Given the description of an element on the screen output the (x, y) to click on. 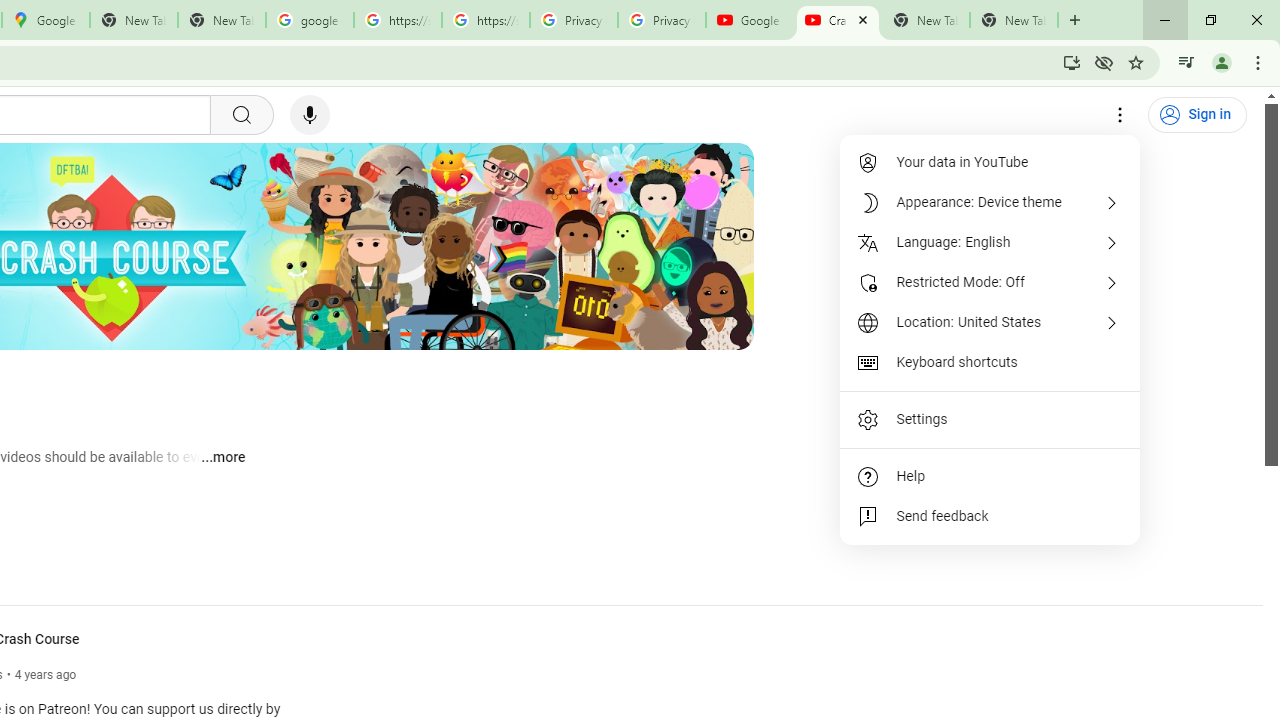
Location: United States (989, 322)
Google - YouTube (749, 20)
CrashCourse - YouTube (837, 20)
Language: English (989, 242)
Your data in YouTube (989, 162)
Restricted Mode: Off (989, 282)
